Given the description of an element on the screen output the (x, y) to click on. 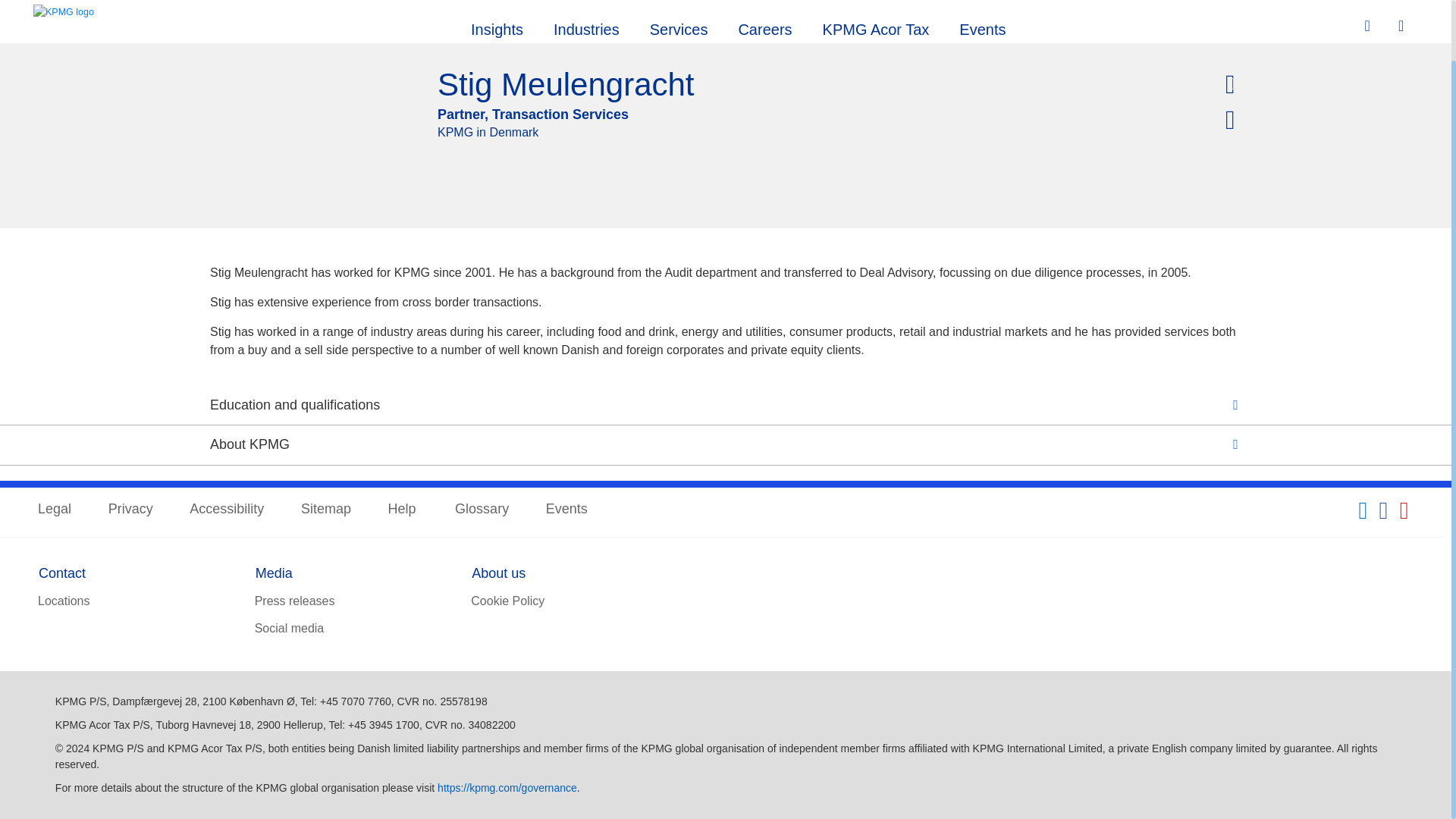
Glossary (481, 509)
Education and qualifications (725, 405)
Help (403, 509)
About KPMG (725, 444)
Legal (54, 509)
Sitemap (325, 509)
Accessibility (226, 509)
Events (567, 509)
Privacy (129, 509)
